Given the description of an element on the screen output the (x, y) to click on. 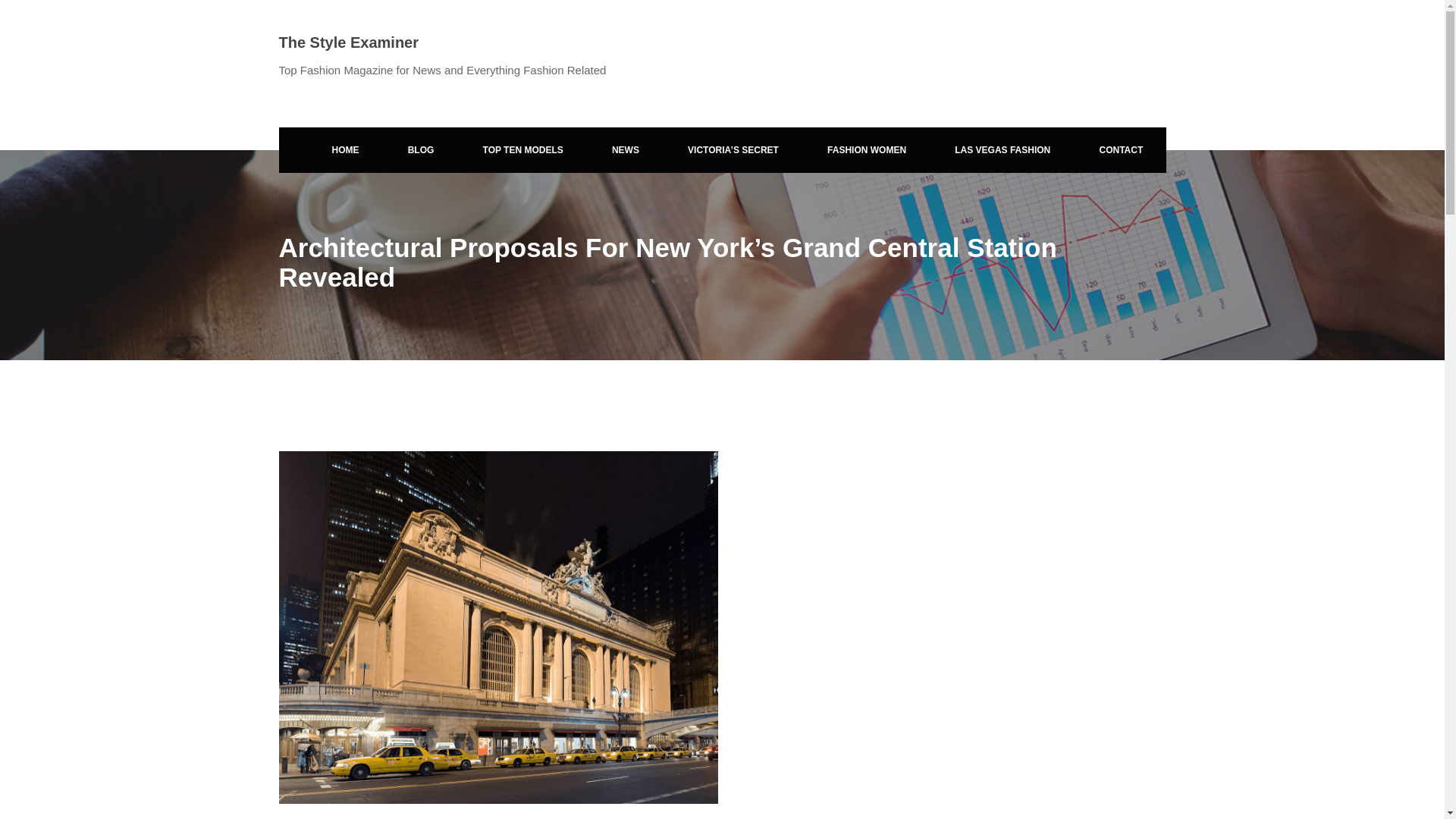
FASHION WOMEN (866, 149)
CONTACT (1120, 149)
BLOG (421, 149)
TOP TEN MODELS (523, 149)
NEWS (625, 149)
HOME (344, 149)
LAS VEGAS FASHION (1002, 149)
The Style Examiner (349, 42)
